Given the description of an element on the screen output the (x, y) to click on. 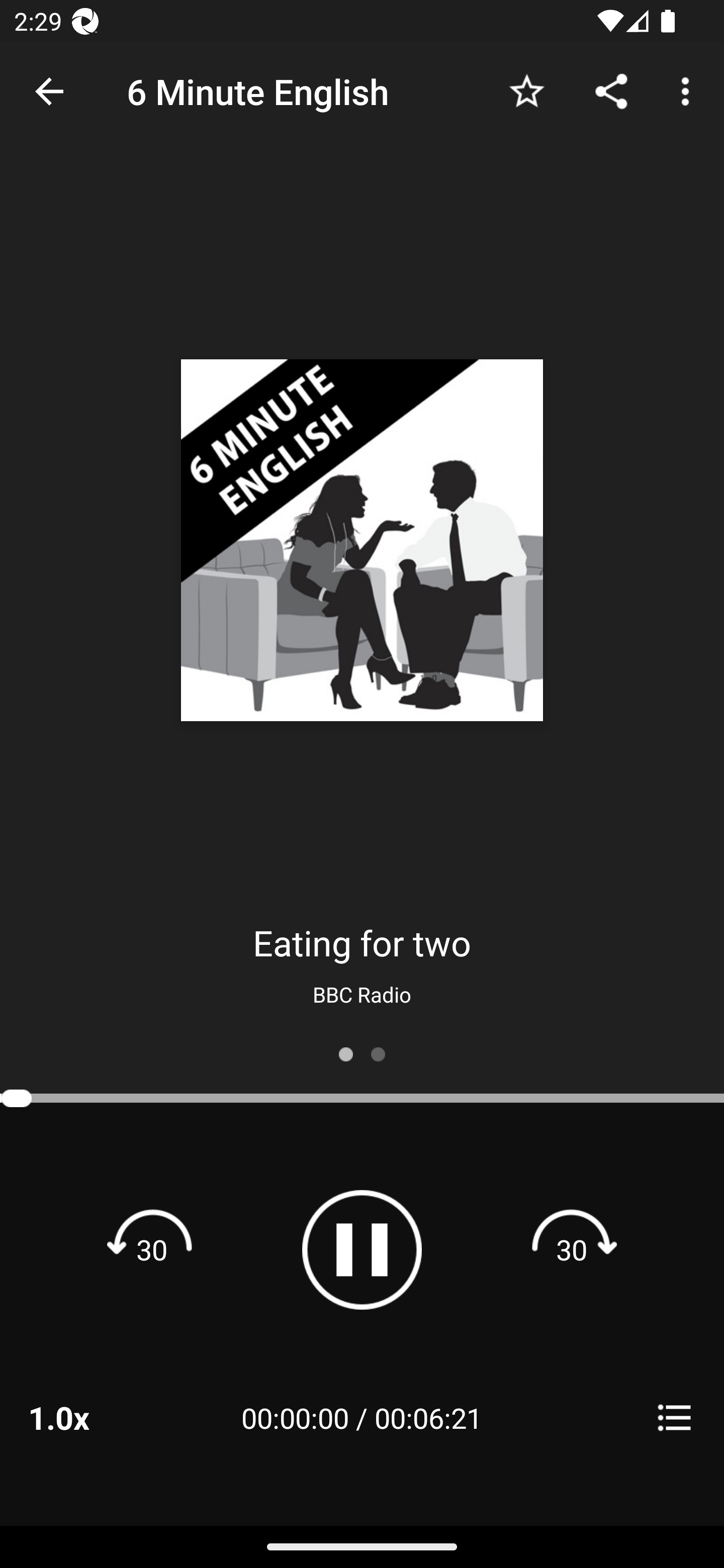
Navigate up (49, 91)
Add to Favorites (526, 90)
Share... (611, 90)
More options (688, 90)
BBC Radio (361, 994)
Pause (361, 1249)
Rewind (151, 1249)
Fast forward (571, 1249)
1.0x Playback Speeds (84, 1417)
00:06:21 (428, 1417)
